Given the description of an element on the screen output the (x, y) to click on. 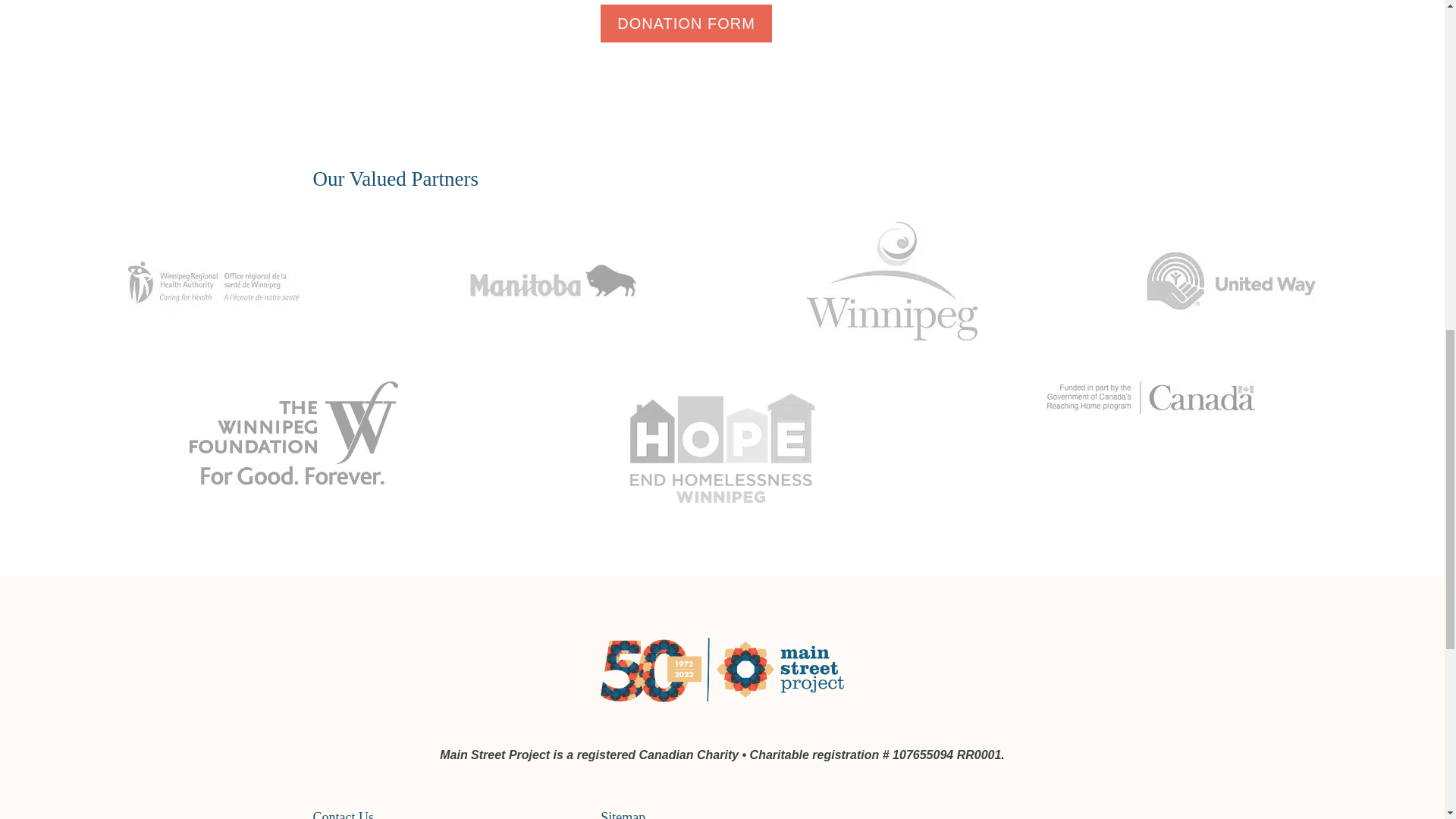
Logo-End-Homelessness-Winnipeg-2023.png (722, 448)
wrha-logo-1.jpg (213, 280)
Main Street Project (721, 697)
Logo-Canada-Reaching-Home.jpeg (1150, 397)
united-way-logo-1.jpg (1230, 280)
winnipeg-logo.jpg (891, 280)
mb-logo.jpg (552, 280)
